Given the description of an element on the screen output the (x, y) to click on. 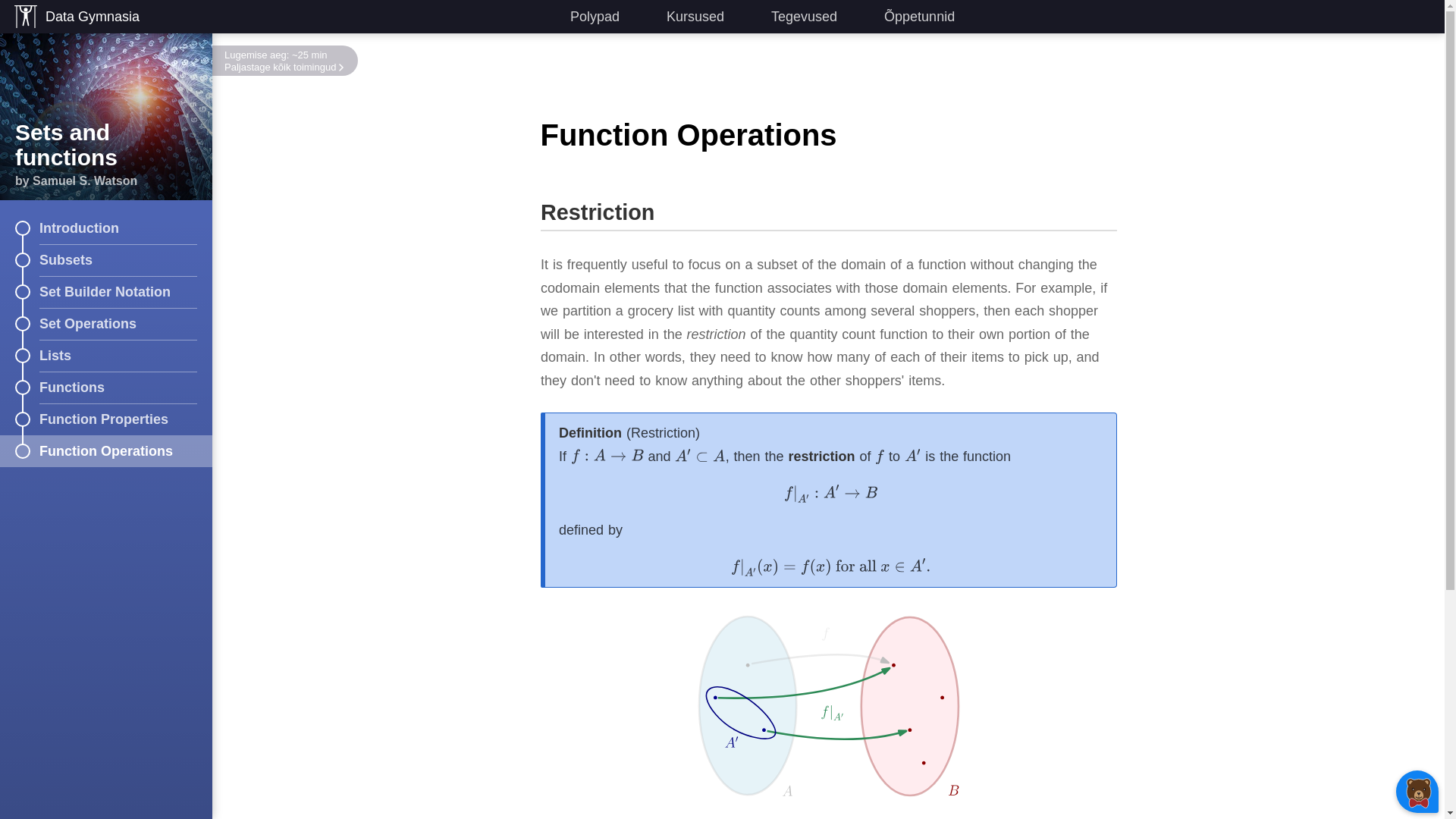
Set Operations (106, 323)
Functions (106, 387)
Kursused (683, 16)
Set Builder Notation (106, 291)
Introduction (106, 228)
Lists (106, 355)
Tegevused (792, 16)
Data Gymnasia (74, 16)
Function Properties (106, 418)
Polypad (583, 16)
Subsets (106, 260)
Data Gym (74, 16)
